Given the description of an element on the screen output the (x, y) to click on. 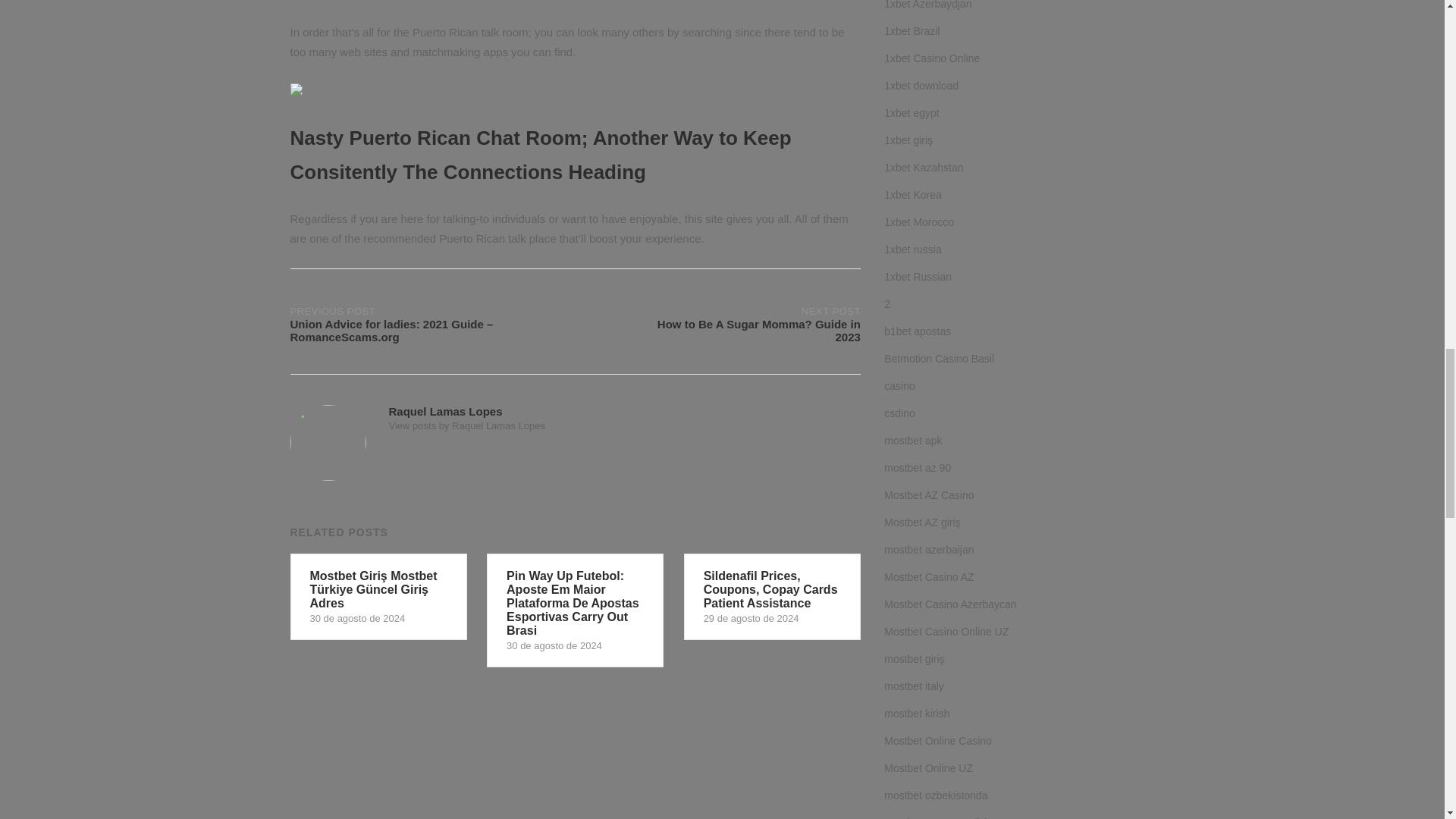
Sildenafil Prices, Coupons, Copay Cards Patient Assistance (717, 321)
View posts by Raquel Lamas Lopes (772, 596)
